Given the description of an element on the screen output the (x, y) to click on. 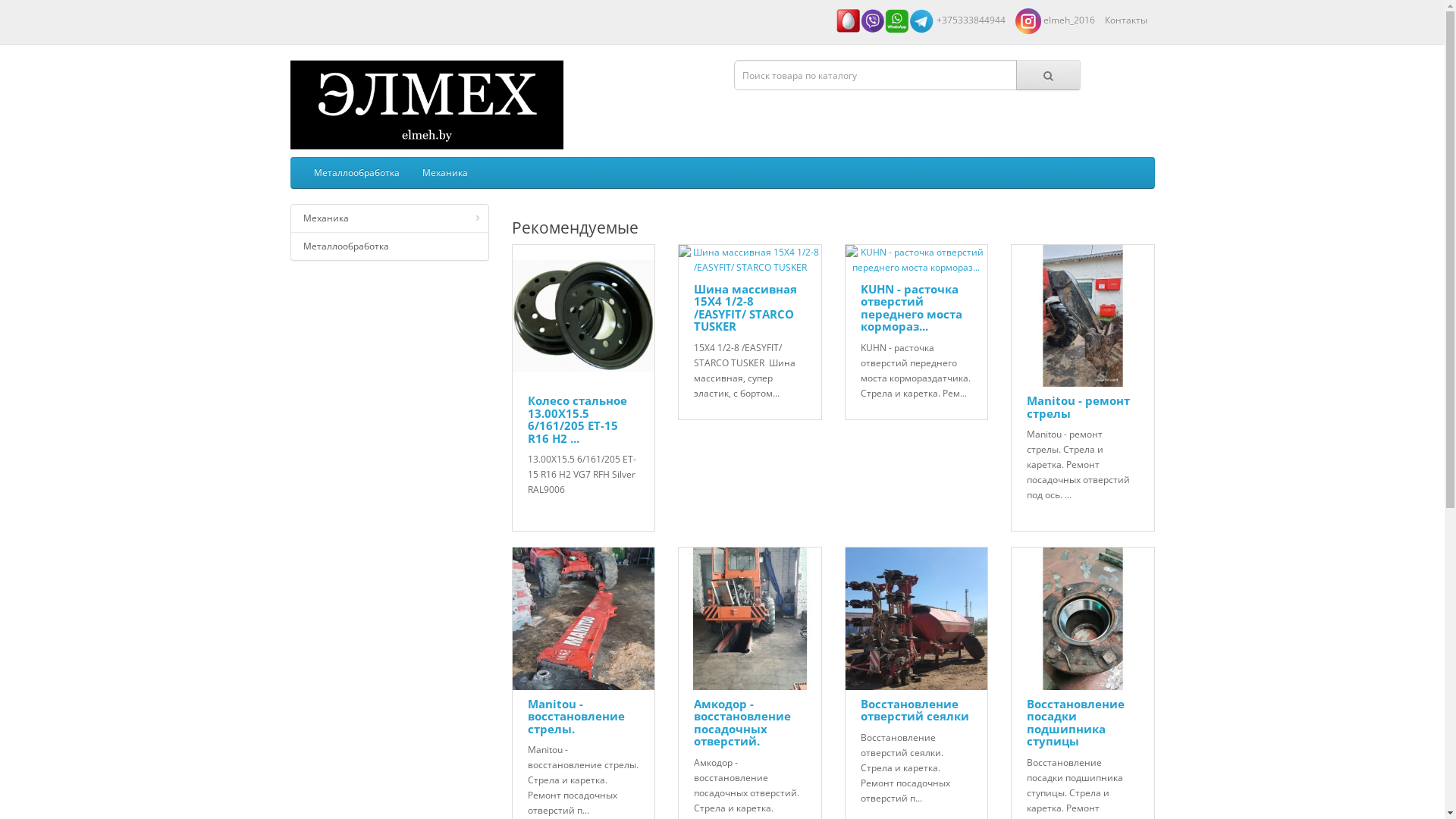
elmeh_2016 Element type: text (1054, 19)
